Given the description of an element on the screen output the (x, y) to click on. 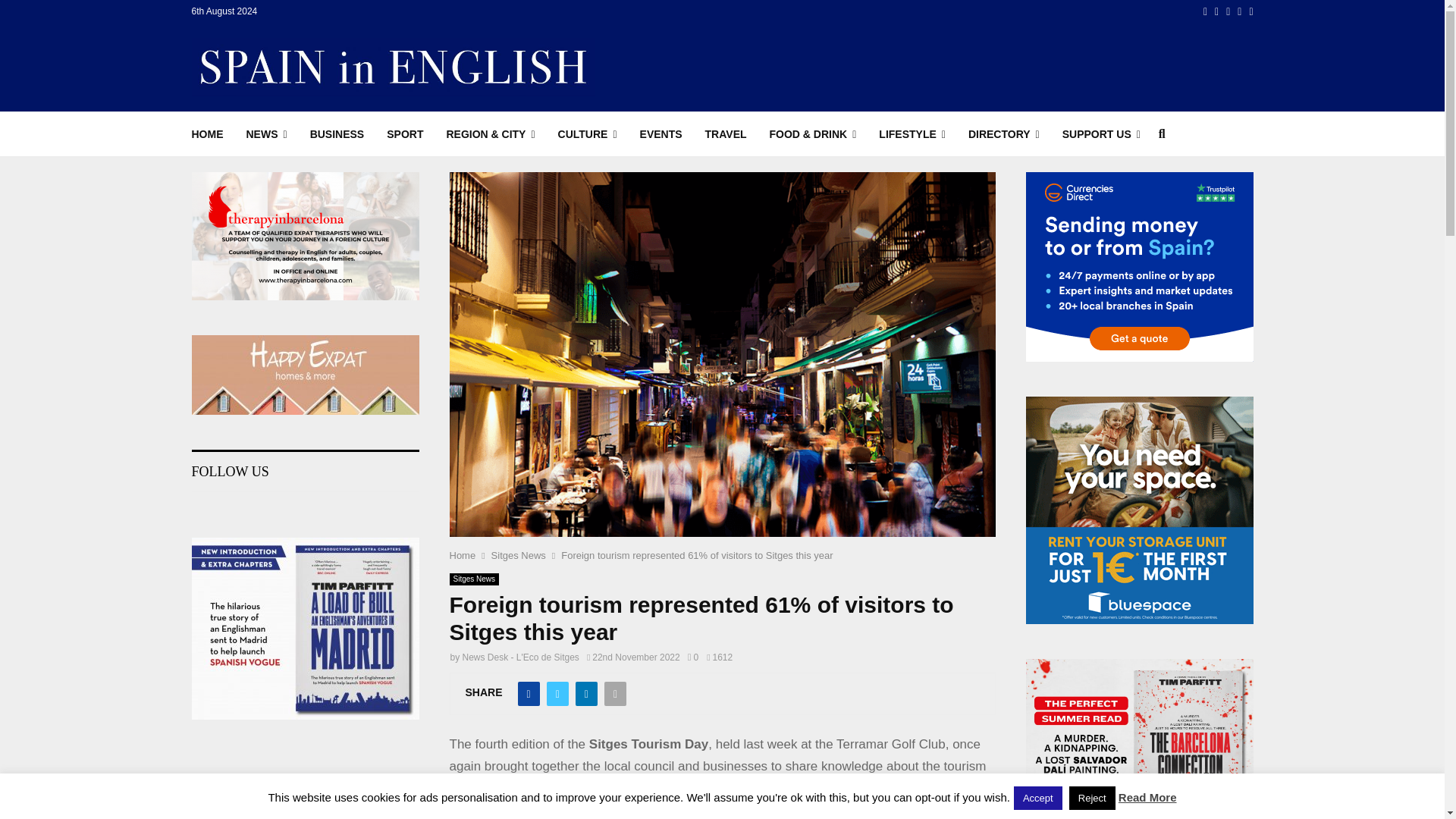
NEWS (266, 134)
BUSINESS (337, 134)
CULTURE (587, 134)
TRAVEL (725, 134)
EVENTS (661, 134)
Login to your account (722, 293)
LIFESTYLE (911, 134)
Sign up new account (722, 527)
